Given the description of an element on the screen output the (x, y) to click on. 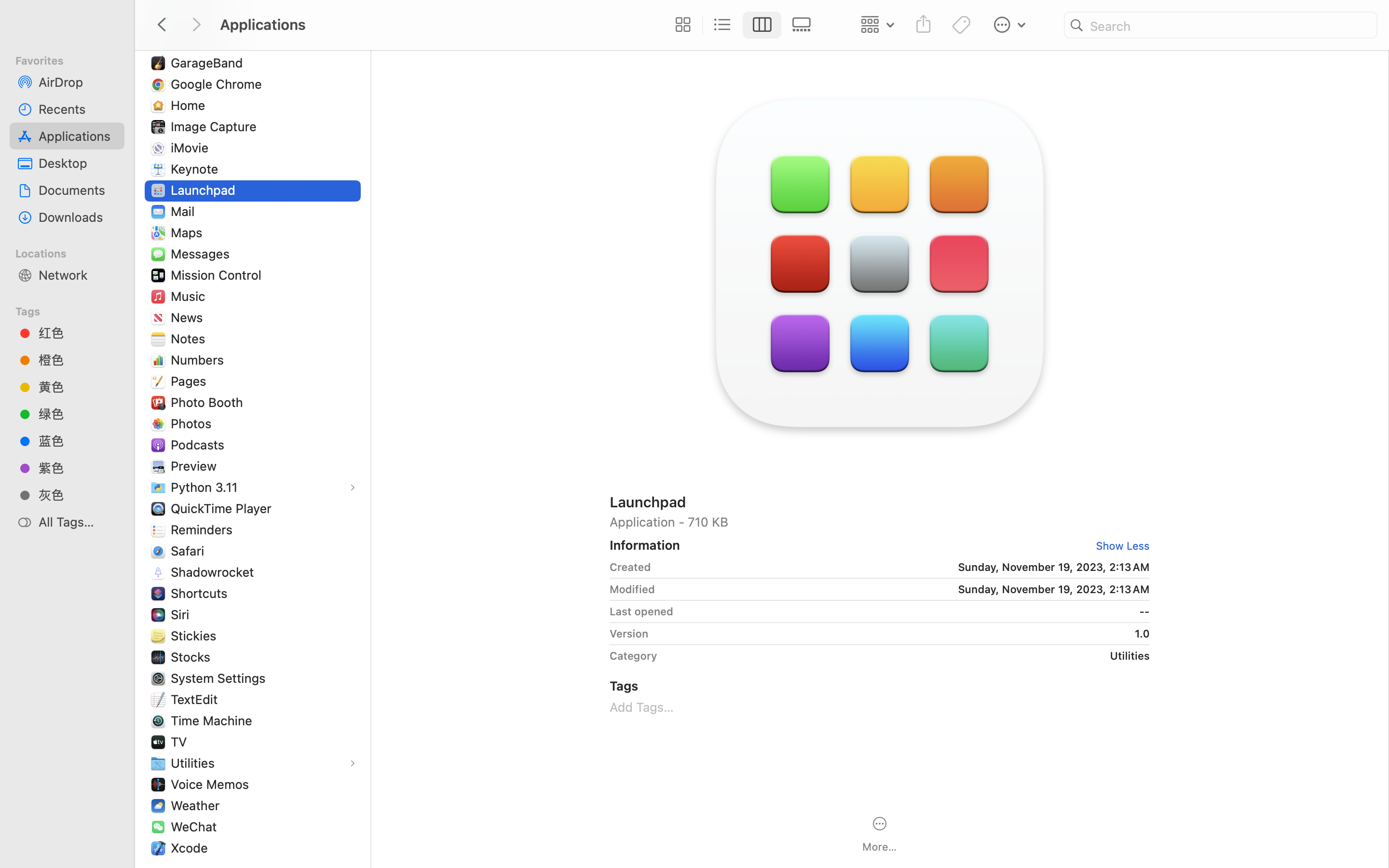
Utilities Element type: AXTextField (194, 762)
Sunday, November 19, 2023, 2:13 AM Element type: AXStaticText (903, 566)
Modified Element type: AXStaticText (631, 589)
Last opened Element type: AXStaticText (641, 611)
绿色 Element type: AXStaticText (77, 413)
